Given the description of an element on the screen output the (x, y) to click on. 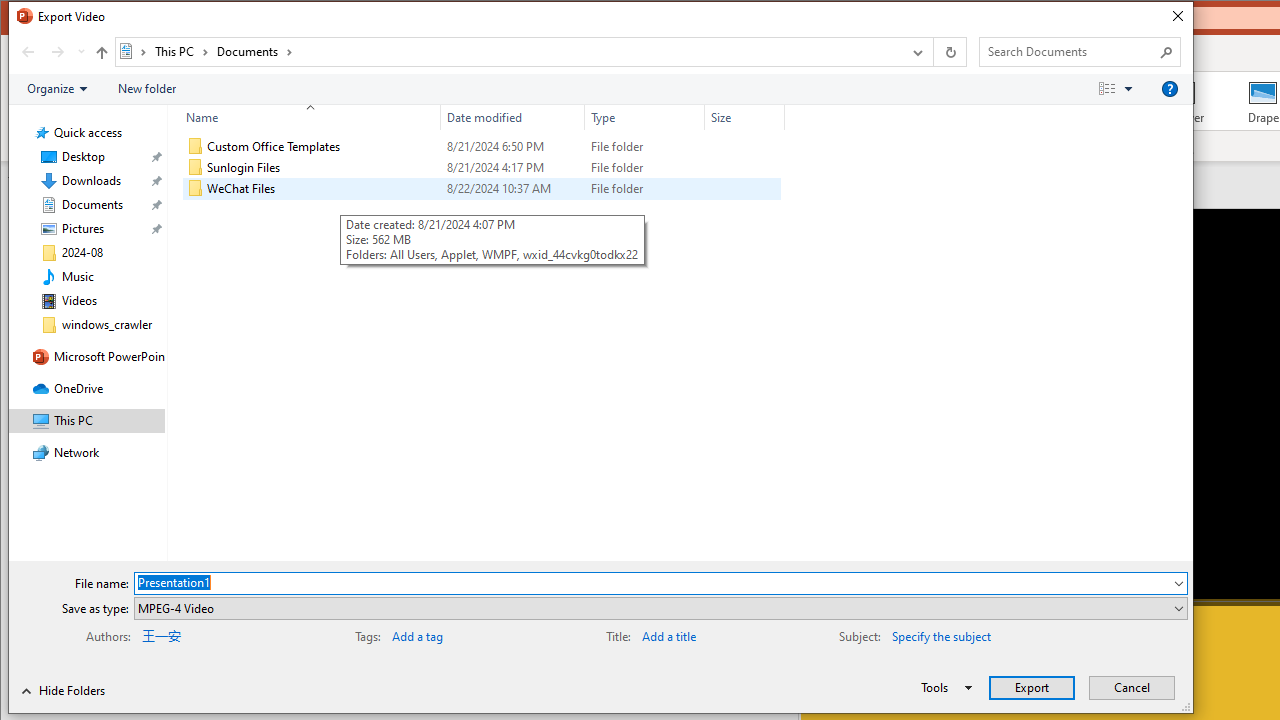
Authors (205, 634)
Search Box (1069, 51)
Tools (943, 687)
Save as type: (660, 607)
Custom Office Templates (481, 146)
Cancel (1132, 688)
Name (304, 117)
WeChat Files (481, 188)
Back (Alt + Left Arrow) (27, 51)
Hide Folders (63, 690)
Organize (56, 89)
Previous Locations (916, 51)
Navigation buttons (50, 51)
